Given the description of an element on the screen output the (x, y) to click on. 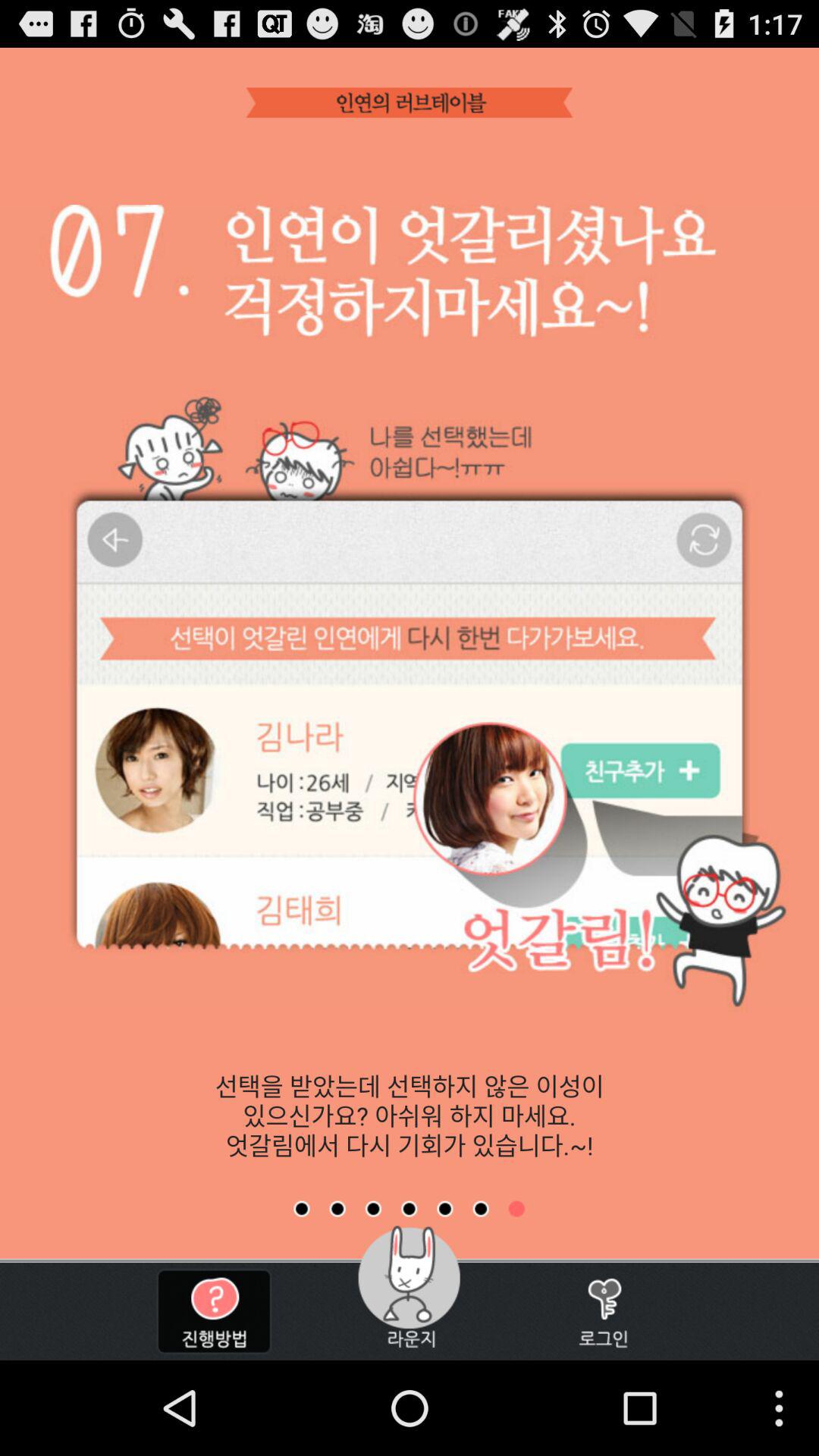
go to previous (480, 1208)
